Given the description of an element on the screen output the (x, y) to click on. 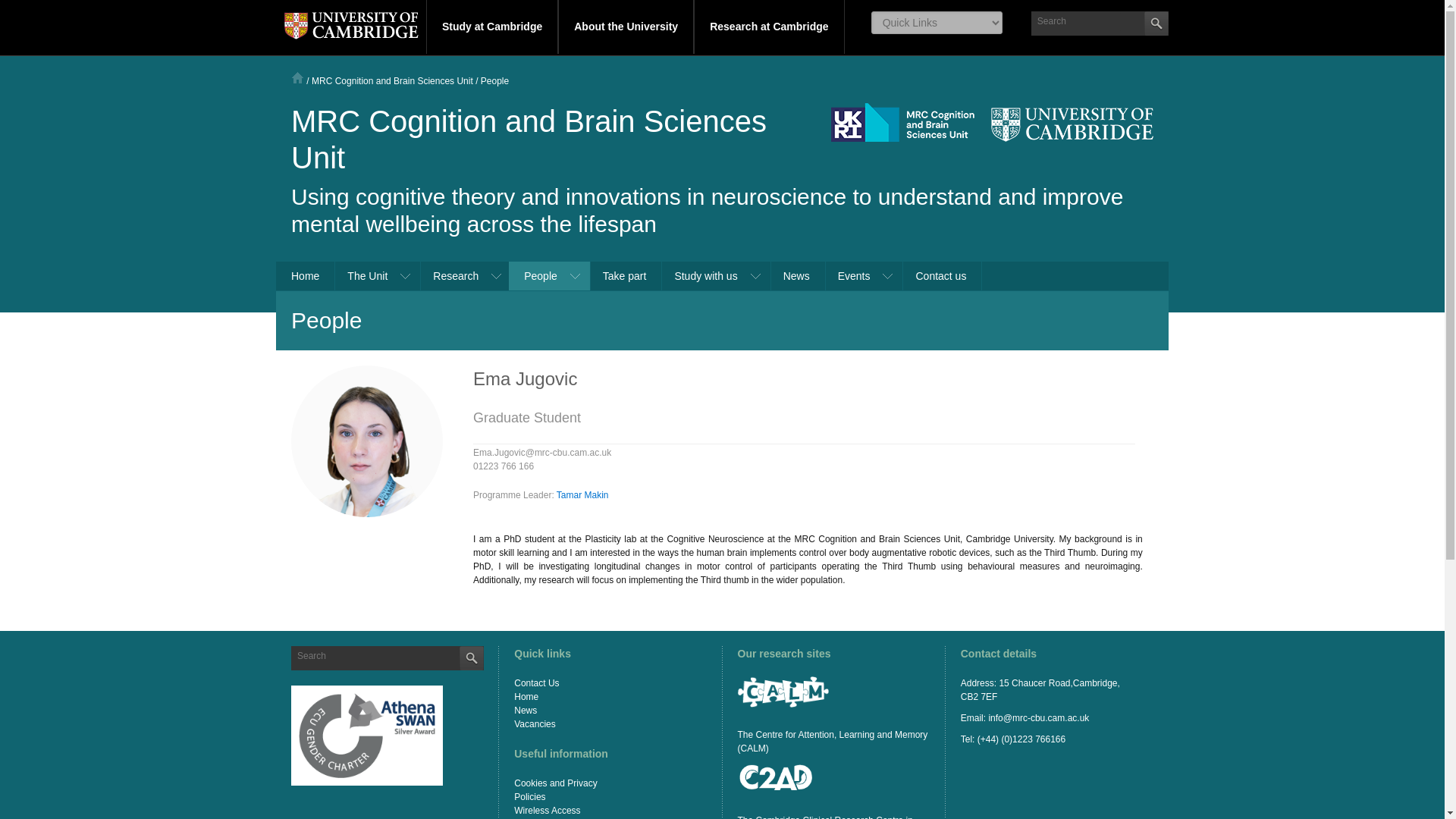
News (796, 275)
Research at Cambridge (769, 27)
Study at Cambridge (491, 27)
About the University (625, 27)
The Unit (375, 275)
